Given the description of an element on the screen output the (x, y) to click on. 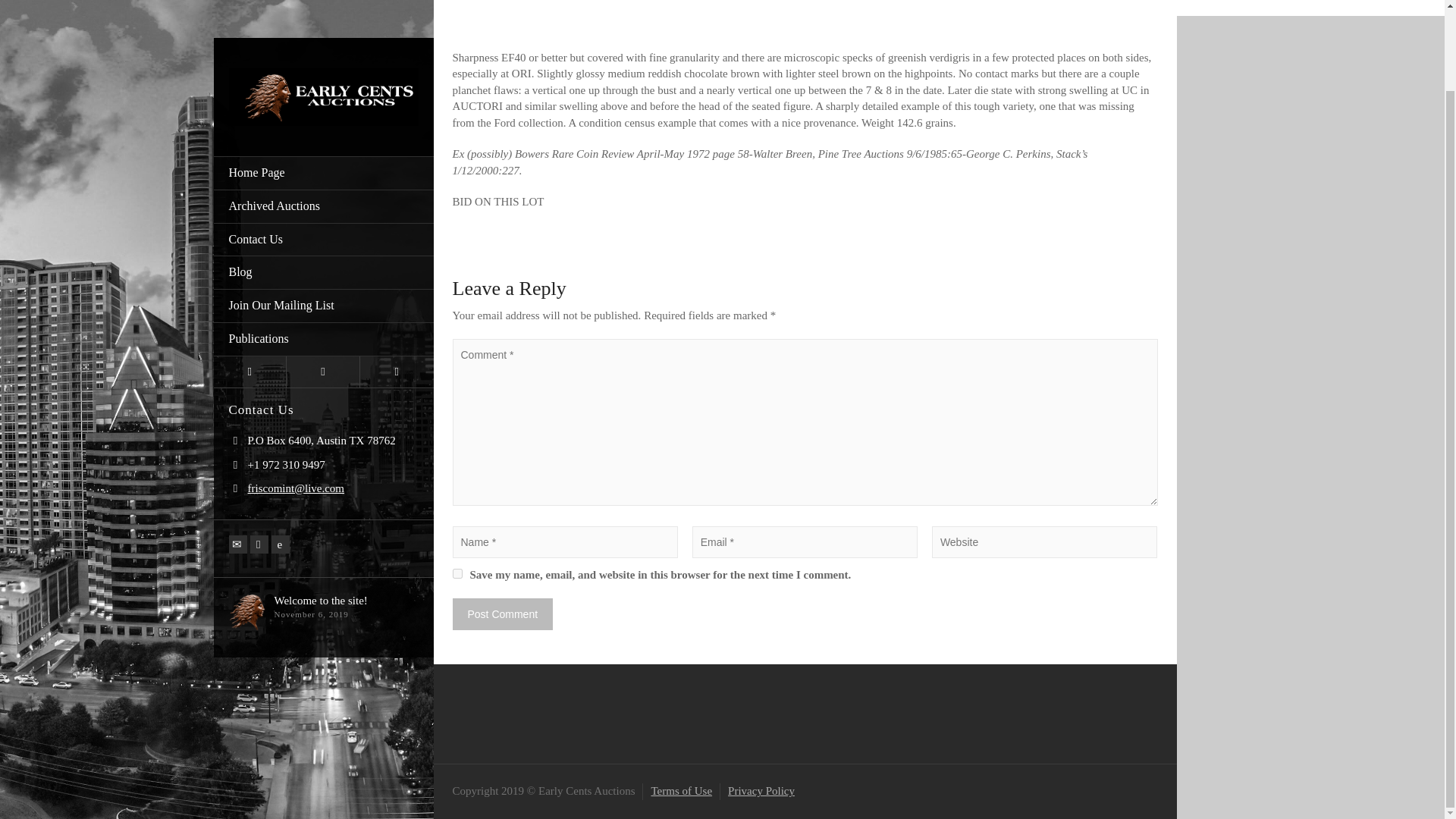
Privacy Policy (761, 790)
Contact Us (323, 149)
Welcome to the site! (321, 509)
Post Comment (502, 613)
Search (396, 280)
Email (237, 453)
Publications (323, 248)
Terms of Use (680, 790)
Facebook (258, 453)
Join Our Mailing List (323, 215)
Welcome to the site! (321, 509)
yes (456, 573)
Blog (323, 182)
Login (250, 280)
eBay (279, 453)
